Given the description of an element on the screen output the (x, y) to click on. 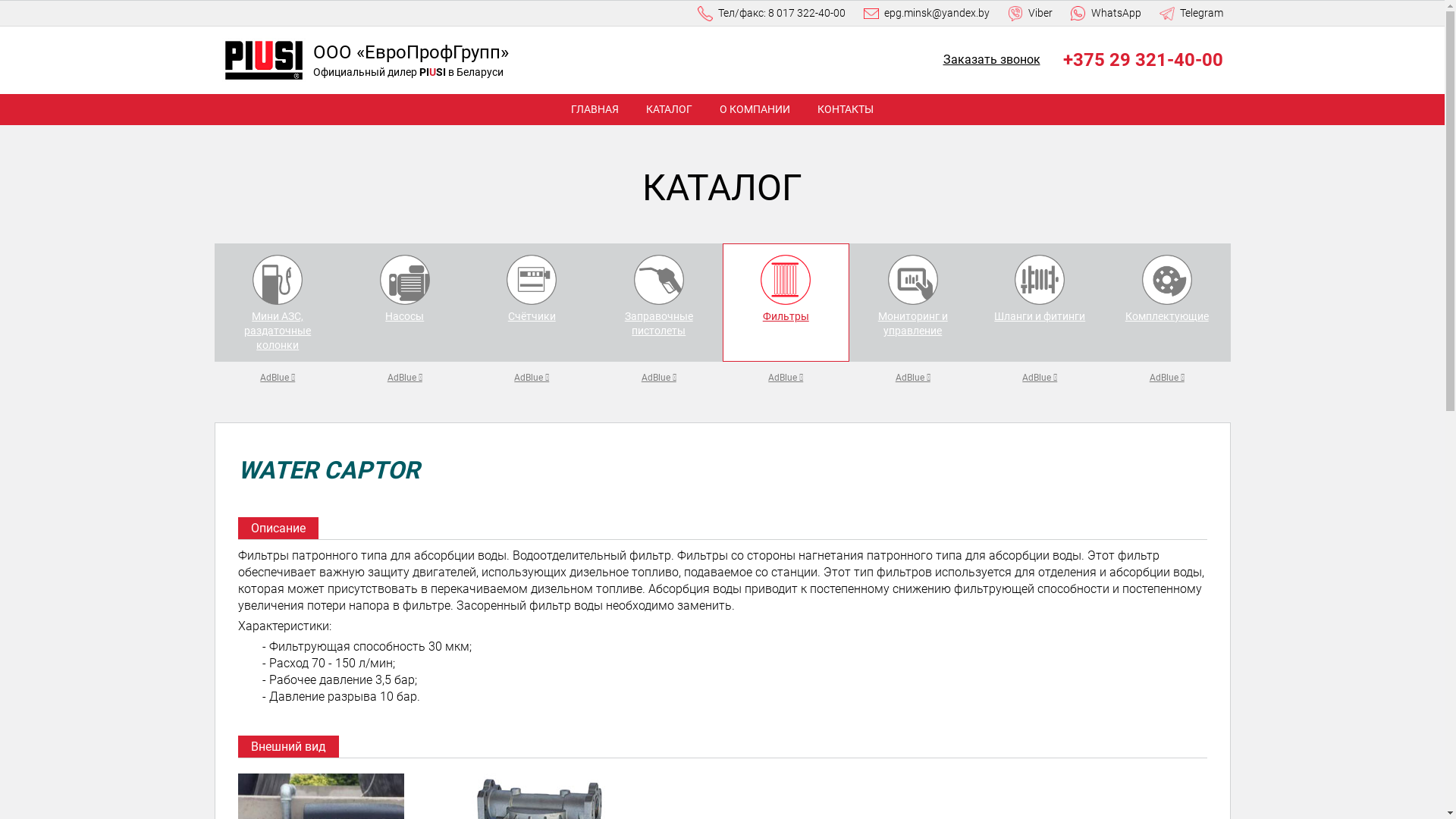
WhatsApp Element type: text (1105, 13)
Telegram Element type: text (1190, 13)
+375 29 321-40-00 Element type: text (1143, 59)
Viber Element type: text (1029, 13)
epg.minsk@yandex.by Element type: text (925, 13)
